Given the description of an element on the screen output the (x, y) to click on. 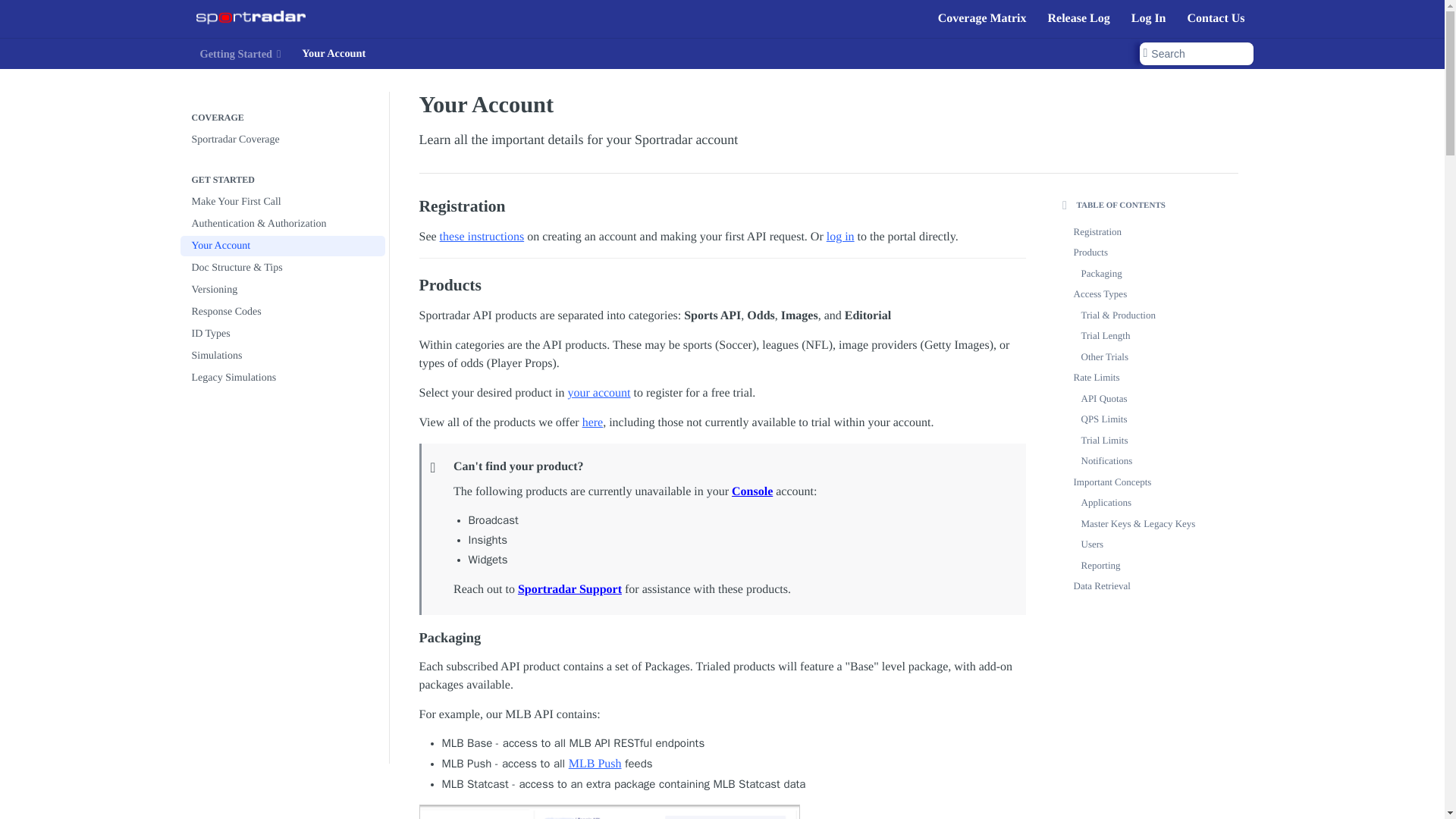
Products (722, 285)
Log In (1148, 18)
Legacy Simulations (282, 377)
your account (598, 392)
Sportradar Coverage (282, 139)
Getting Started (239, 53)
ID Types (282, 333)
Coverage Matrix (982, 18)
Simulations (282, 355)
Packaging (722, 638)
